Given the description of an element on the screen output the (x, y) to click on. 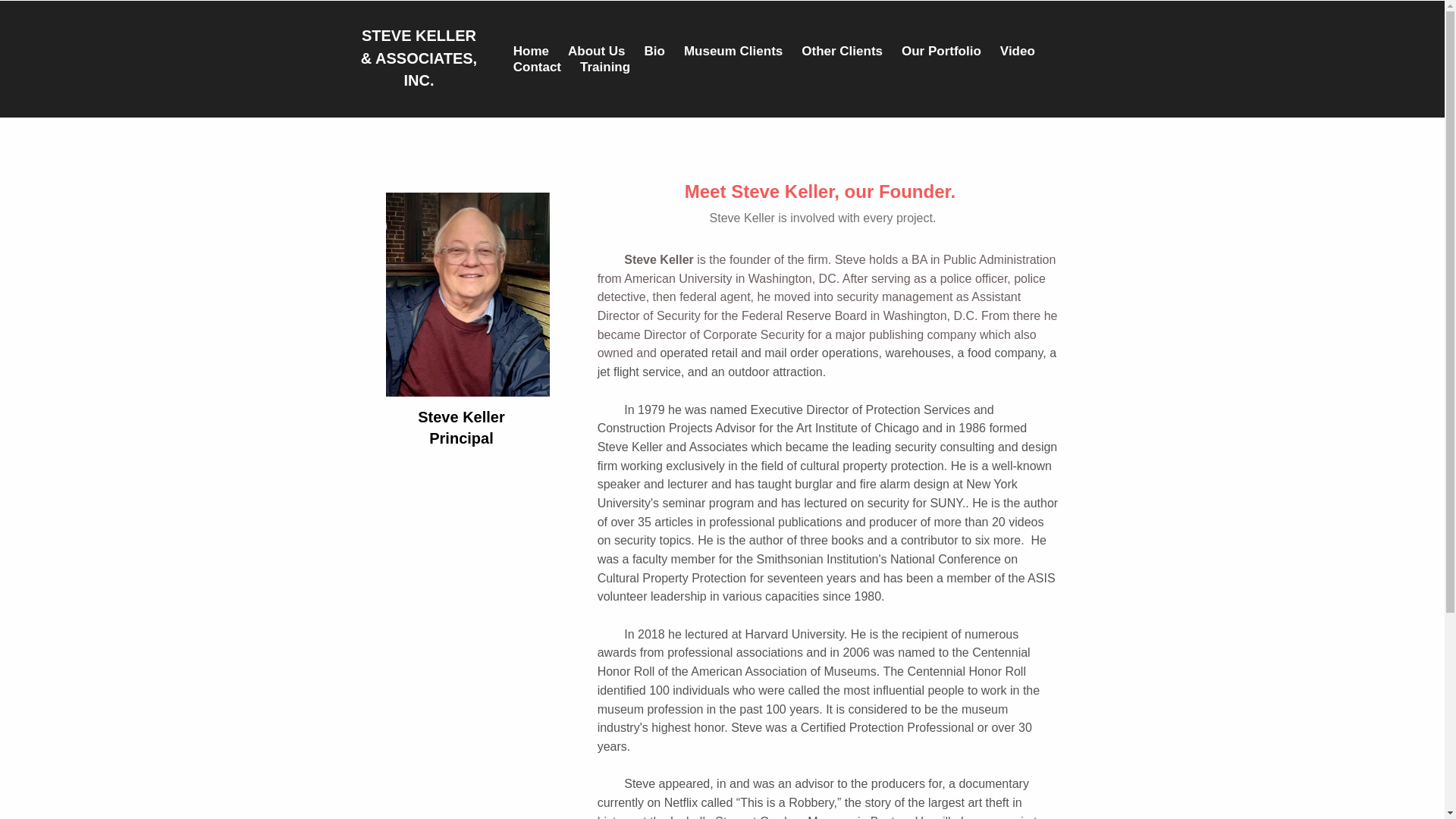
Museum Clients (733, 50)
Contact (536, 66)
Other Clients (842, 50)
About Us (596, 50)
Training (604, 66)
Video (1017, 50)
Home (530, 50)
Bio (655, 50)
Our Portfolio (941, 50)
